Given the description of an element on the screen output the (x, y) to click on. 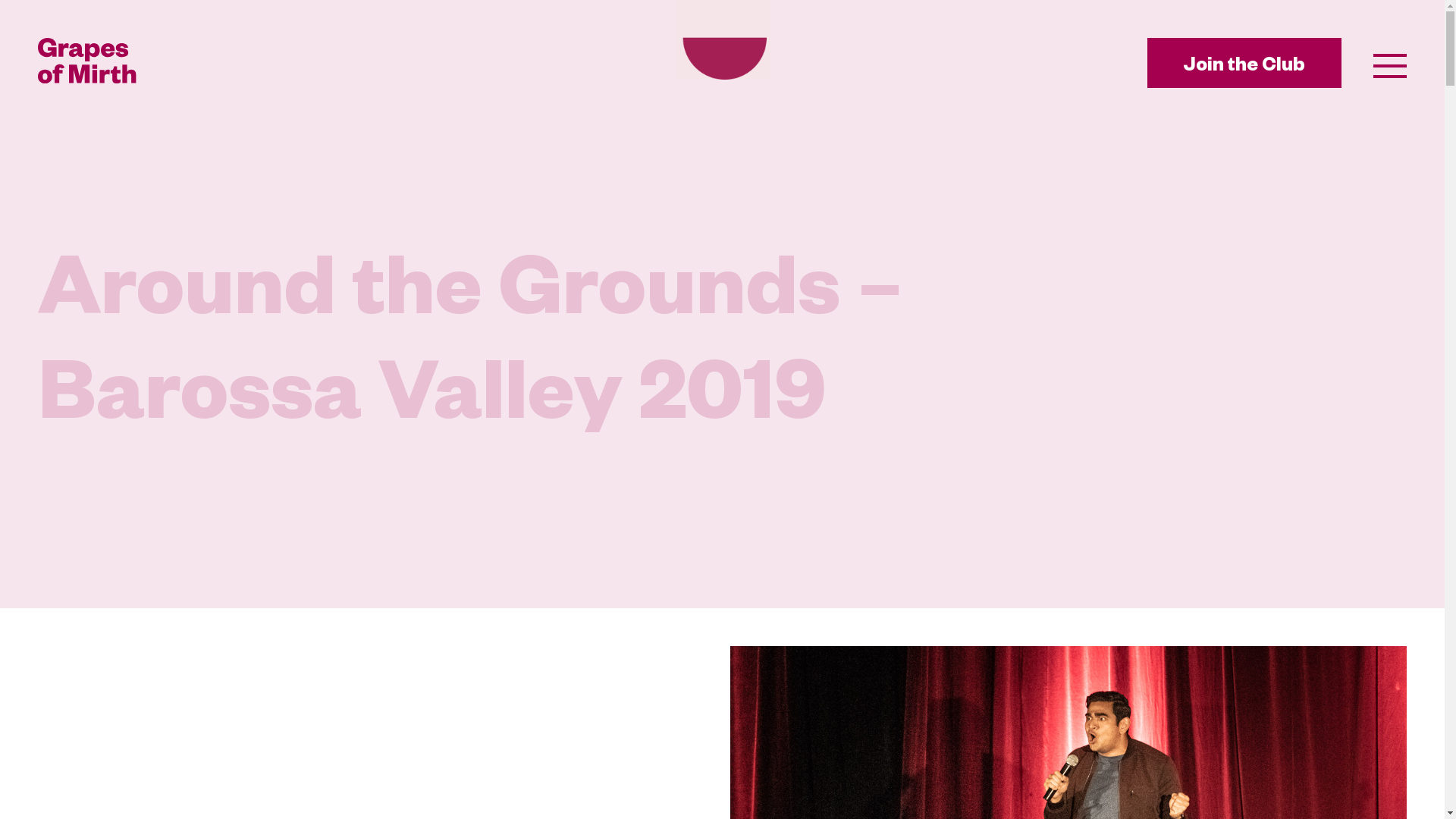
Join the Club Element type: text (1244, 62)
